Given the description of an element on the screen output the (x, y) to click on. 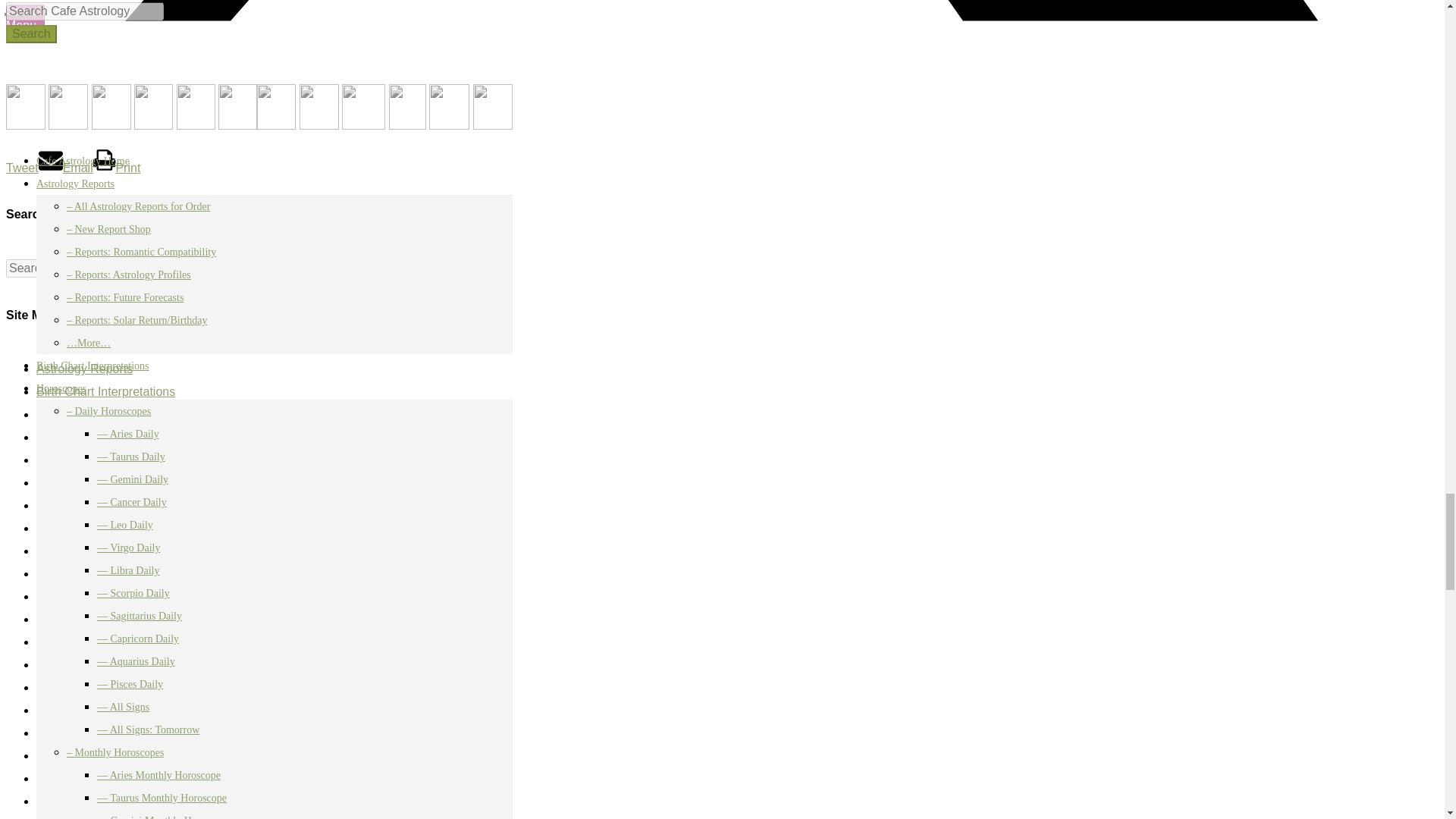
Astrology Reports (84, 368)
Search (188, 268)
Search (188, 268)
Share via Email (66, 167)
Search (188, 268)
Birth Chart Interpretations (105, 391)
Print (117, 167)
Print this Page (117, 167)
Email (66, 167)
Email (66, 167)
